Given the description of an element on the screen output the (x, y) to click on. 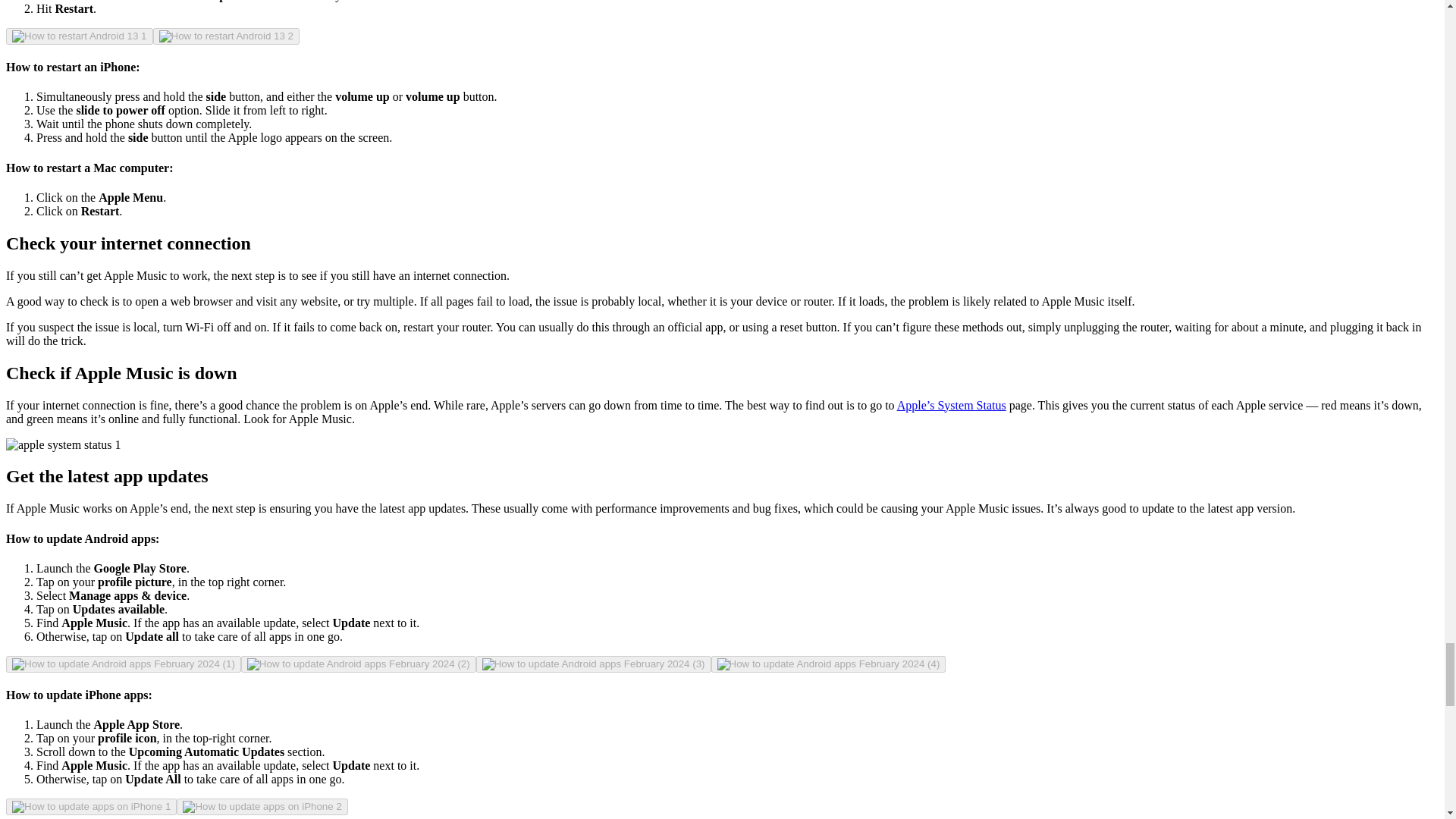
apple system status 1 (62, 445)
How to restart Android 13 2 (226, 36)
How to update apps on iPhone 1 (90, 806)
How to restart Android 13 1 (79, 36)
